Given the description of an element on the screen output the (x, y) to click on. 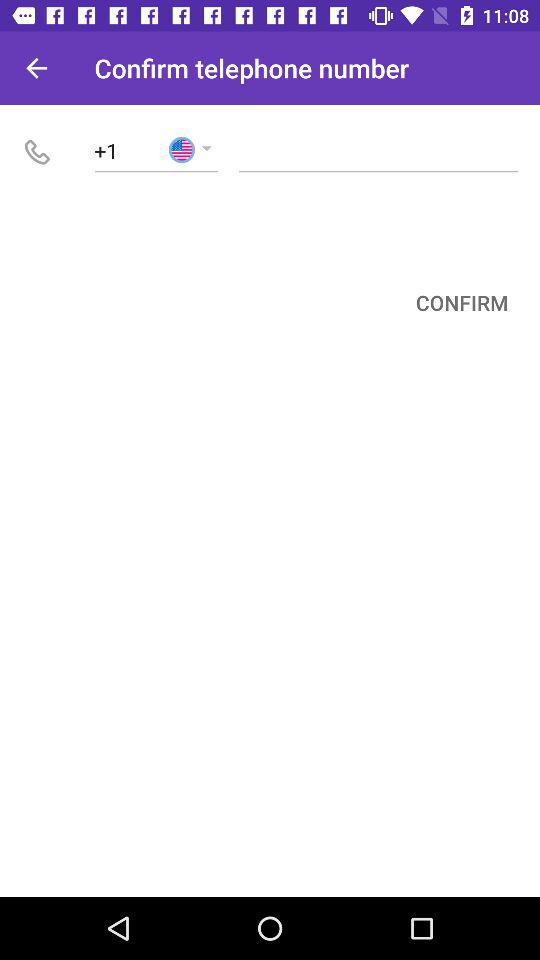
press item to the left of confirm telephone number (36, 68)
